Given the description of an element on the screen output the (x, y) to click on. 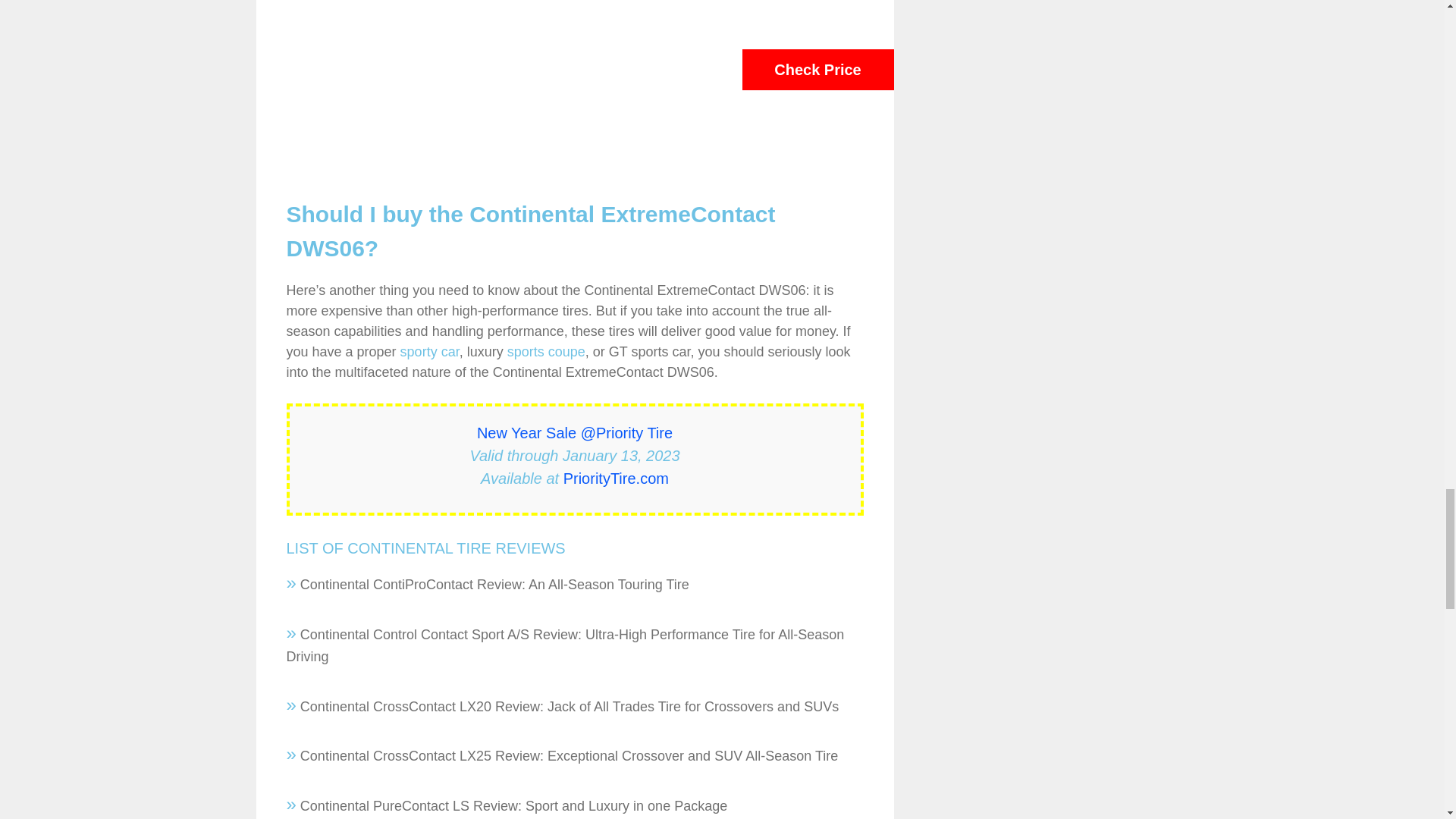
sports coupe (545, 351)
PriorityTire.com (615, 478)
sporty car (430, 351)
